Given the description of an element on the screen output the (x, y) to click on. 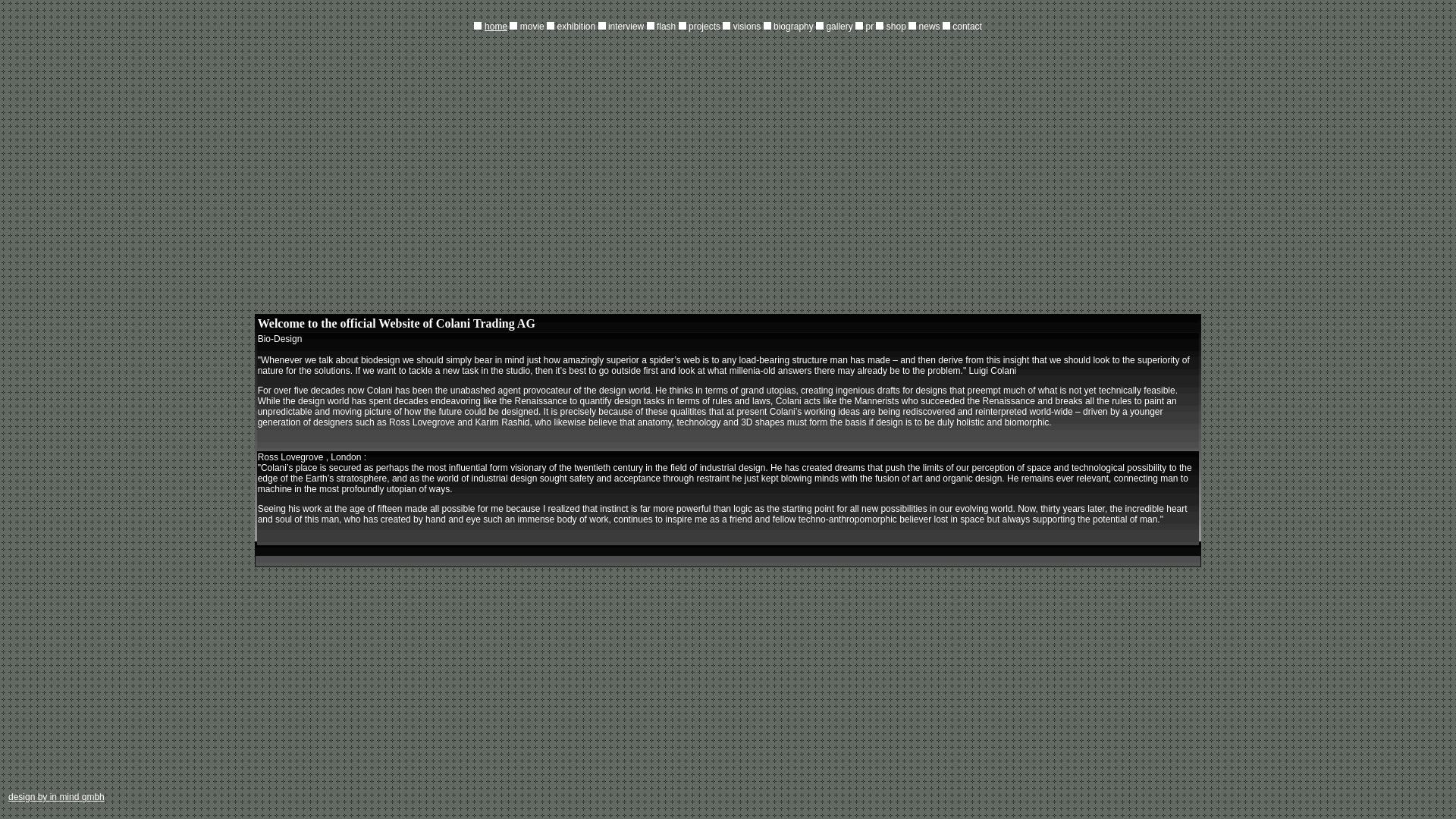
projects Element type: text (703, 26)
news Element type: text (929, 26)
design by in mind gmbh Element type: text (56, 796)
gallery Element type: text (838, 26)
exhibition Element type: text (570, 26)
home Element type: text (495, 24)
shop Element type: text (890, 26)
visions Element type: text (748, 26)
biography Element type: text (793, 26)
contact Element type: text (967, 26)
flash Element type: text (665, 26)
pr Element type: text (870, 26)
interview Element type: text (625, 26)
movie Element type: text (532, 26)
